Given the description of an element on the screen output the (x, y) to click on. 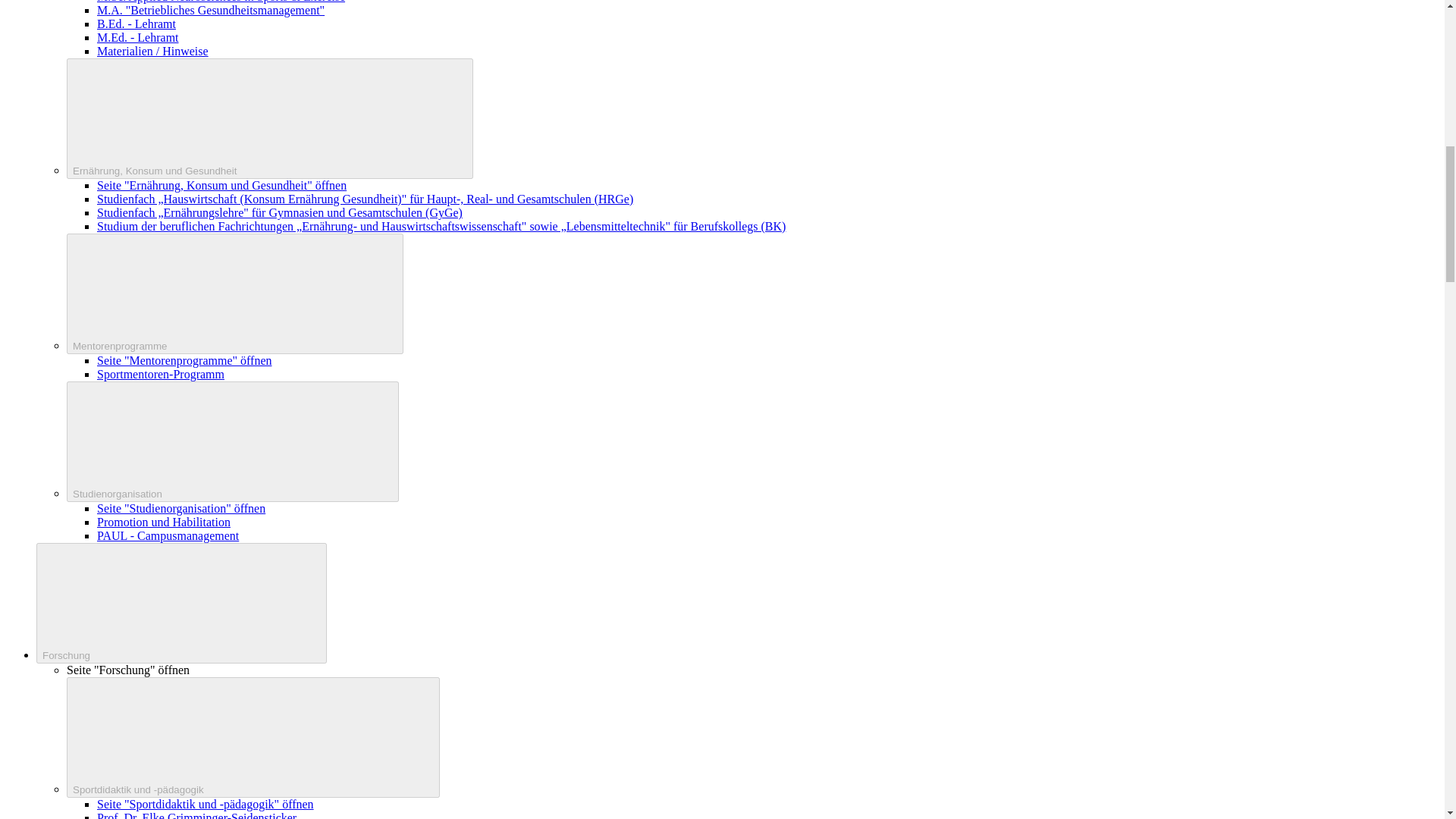
PAUL - Campusmanagement (167, 535)
toggle submenu (269, 118)
B.Ed. - Lehramt (136, 23)
Sportmentoren-Programm (160, 373)
toggle submenu (252, 737)
toggle submenu (234, 293)
M.Ed. - Lehramt (138, 37)
Promotion und Habilitation (163, 521)
toggle submenu (181, 602)
M.A. "Betriebliches Gesundheitsmanagement" (210, 10)
